Given the description of an element on the screen output the (x, y) to click on. 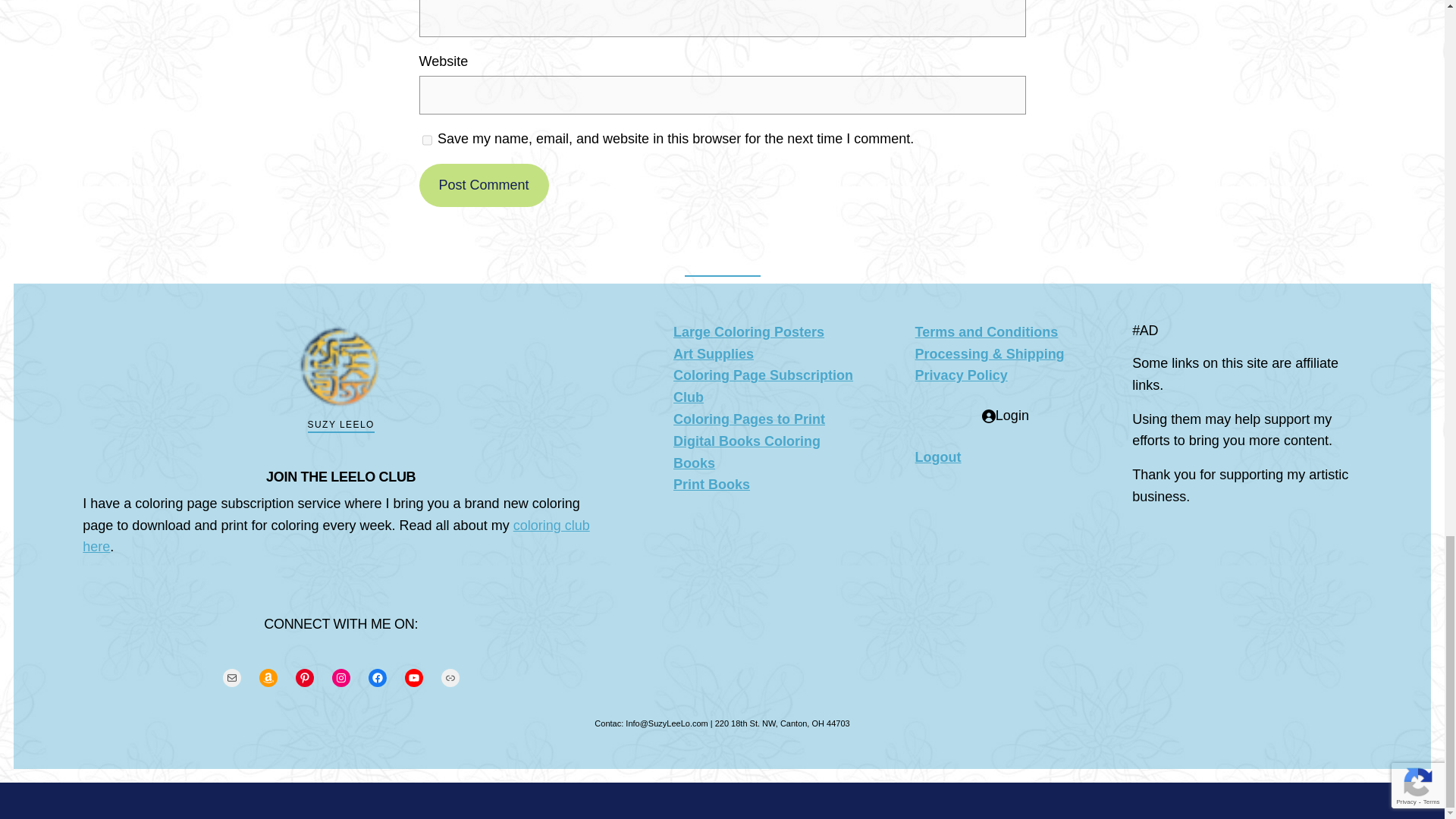
Post Comment (483, 185)
yes (426, 140)
